Given the description of an element on the screen output the (x, y) to click on. 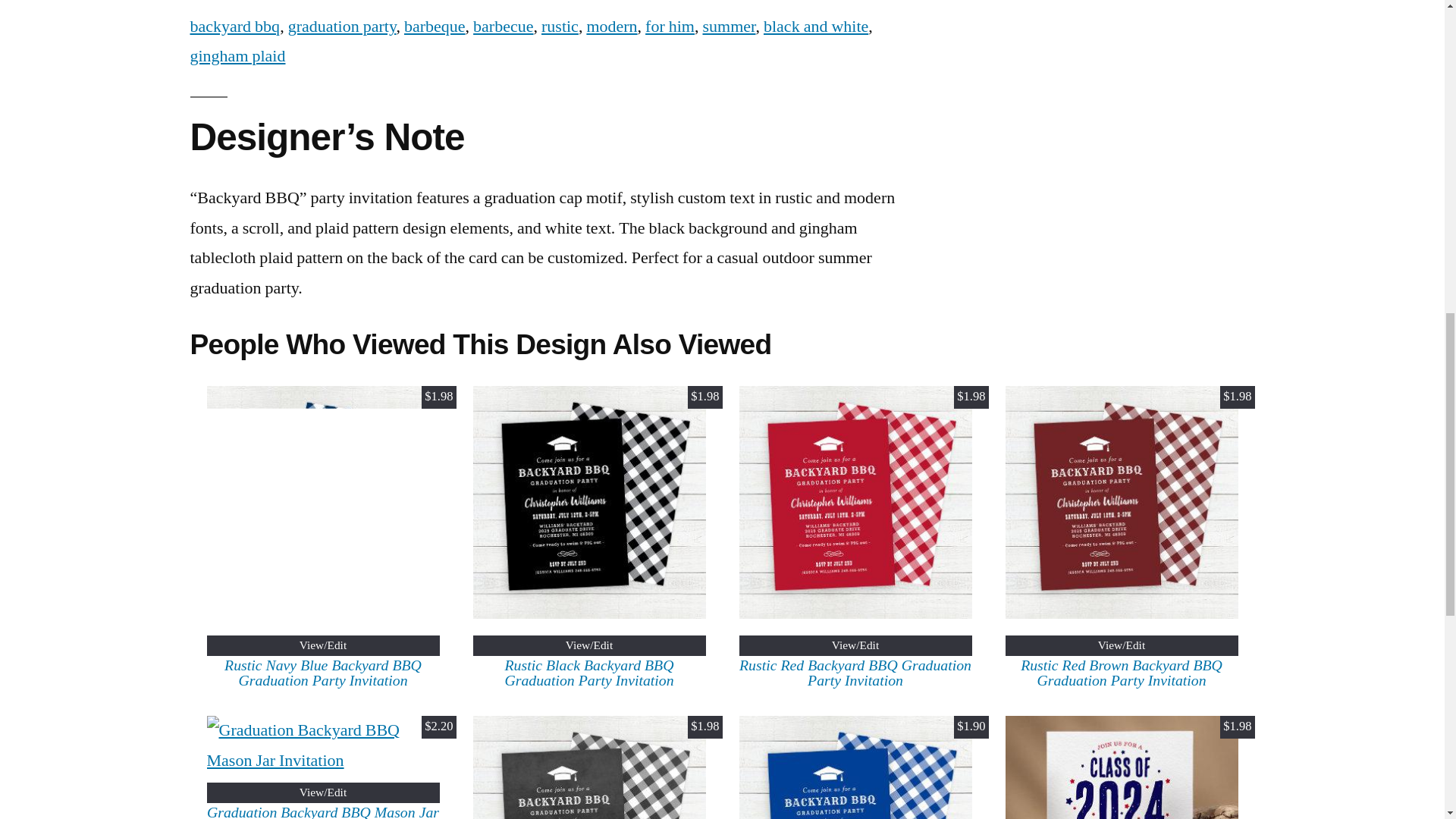
barbeque (434, 25)
barbecue (502, 25)
summer (728, 25)
modern (611, 25)
black and white (814, 25)
backyard bbq (234, 25)
gingham plaid (237, 55)
for him (669, 25)
rustic (559, 25)
graduation party (342, 25)
